Given the description of an element on the screen output the (x, y) to click on. 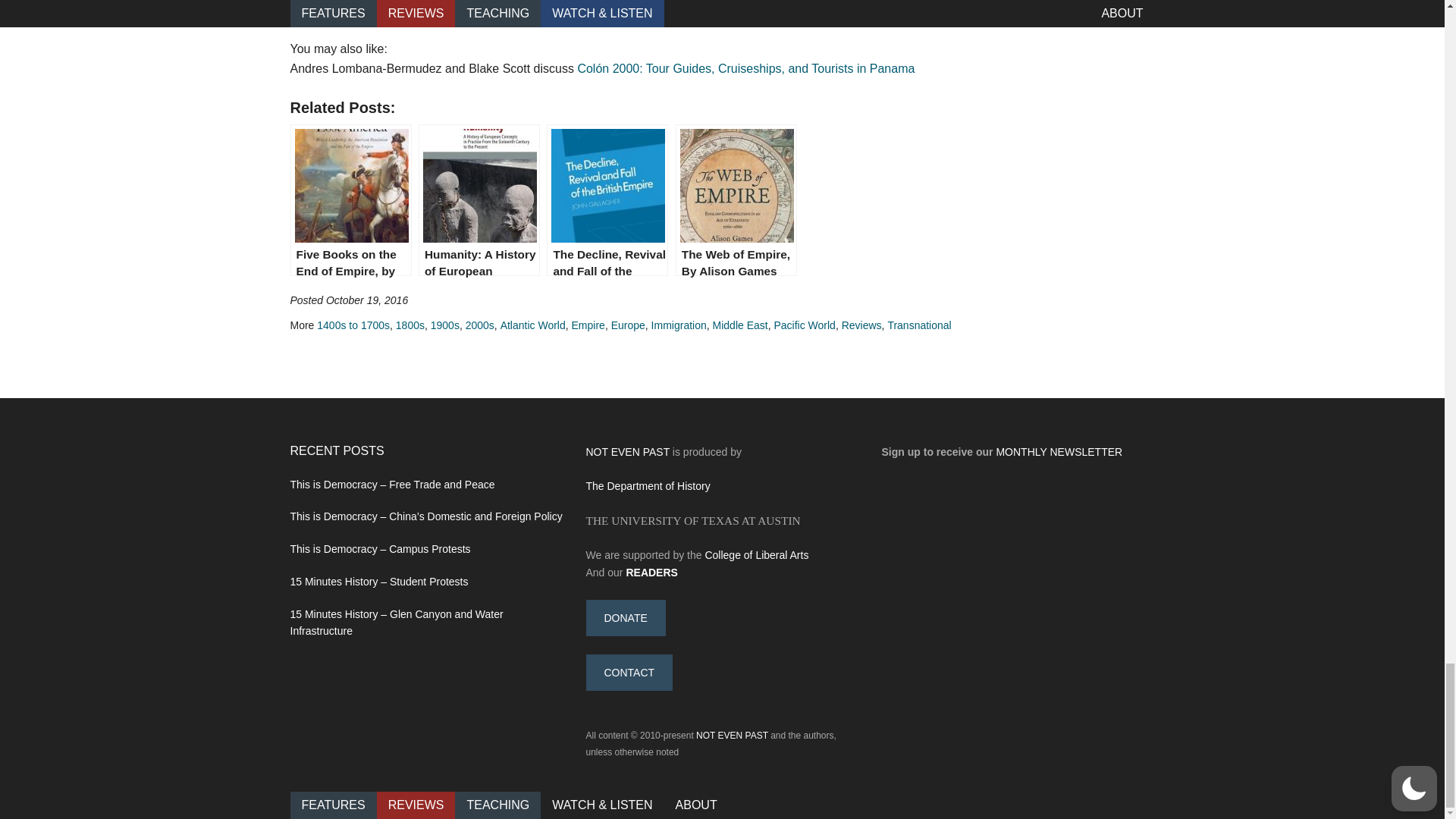
2000s (480, 325)
1400s to 1700s (353, 325)
Europe (628, 325)
1800s (410, 325)
Atlantic World (533, 325)
Empire (588, 325)
1900s (445, 325)
